Given the description of an element on the screen output the (x, y) to click on. 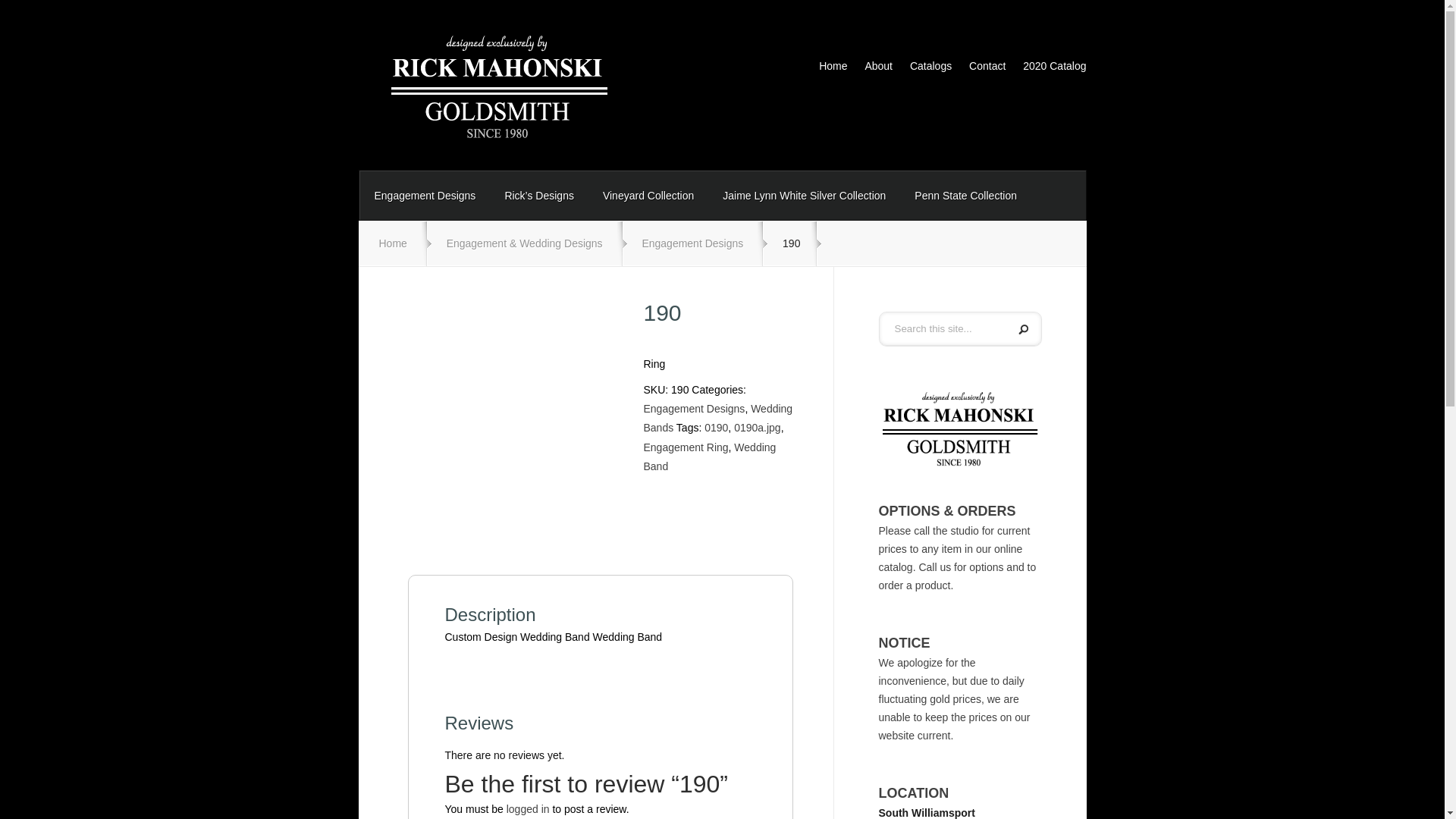
Engagement Designs (424, 195)
2020 Catalog (1047, 69)
Search this site... (941, 328)
Catalogs (923, 69)
Vineyard Collection (647, 195)
Search this site... (941, 328)
Home (826, 69)
About (871, 69)
Jaime Lynn White Silver Collection (803, 195)
Contact (980, 69)
